Given the description of an element on the screen output the (x, y) to click on. 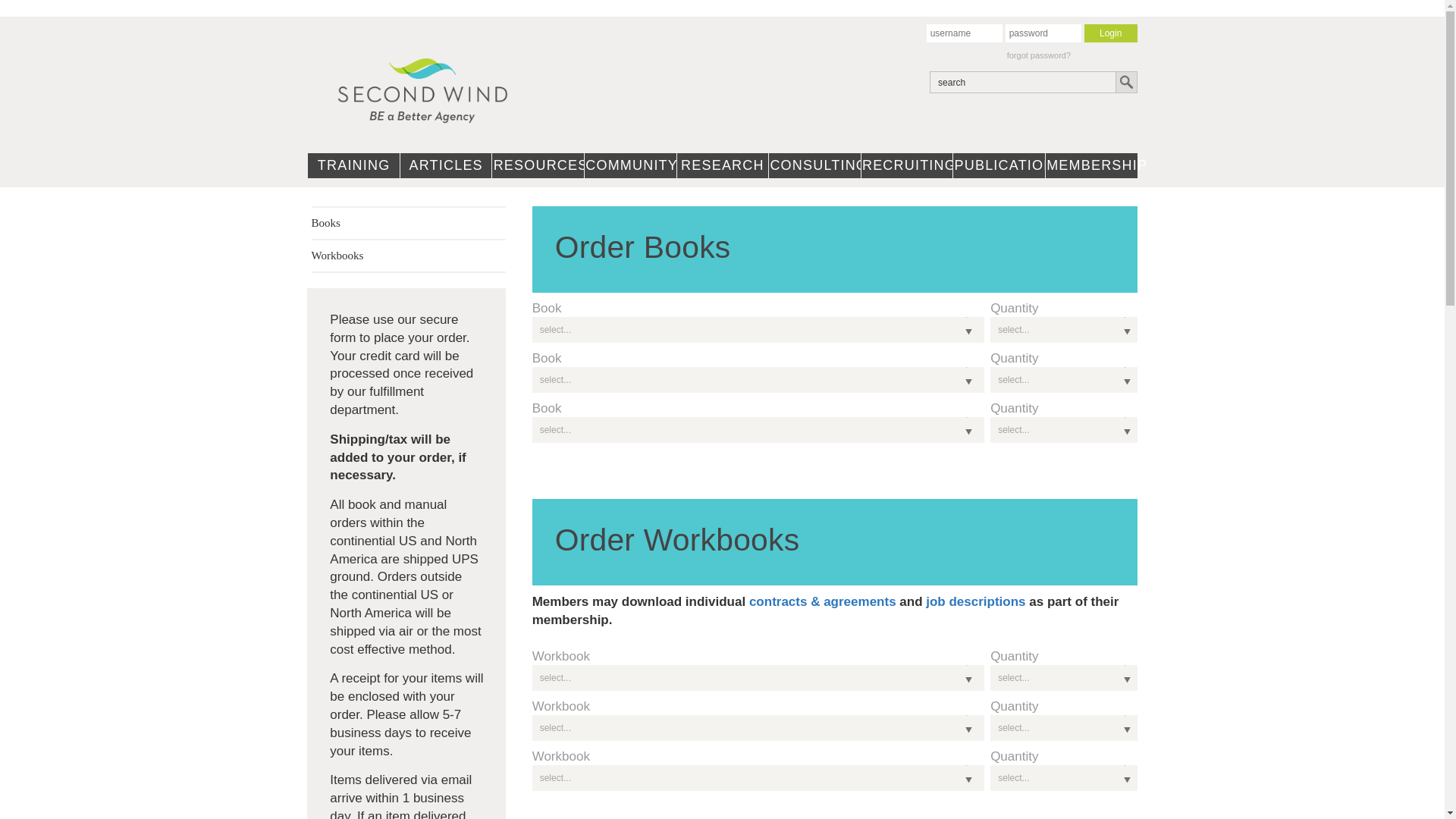
Login (1110, 33)
Login (1110, 33)
RESOURCES (537, 162)
ARTICLES (446, 162)
TRAINING (352, 162)
Search (1126, 82)
forgot password? (1038, 54)
Search (1126, 82)
